Given the description of an element on the screen output the (x, y) to click on. 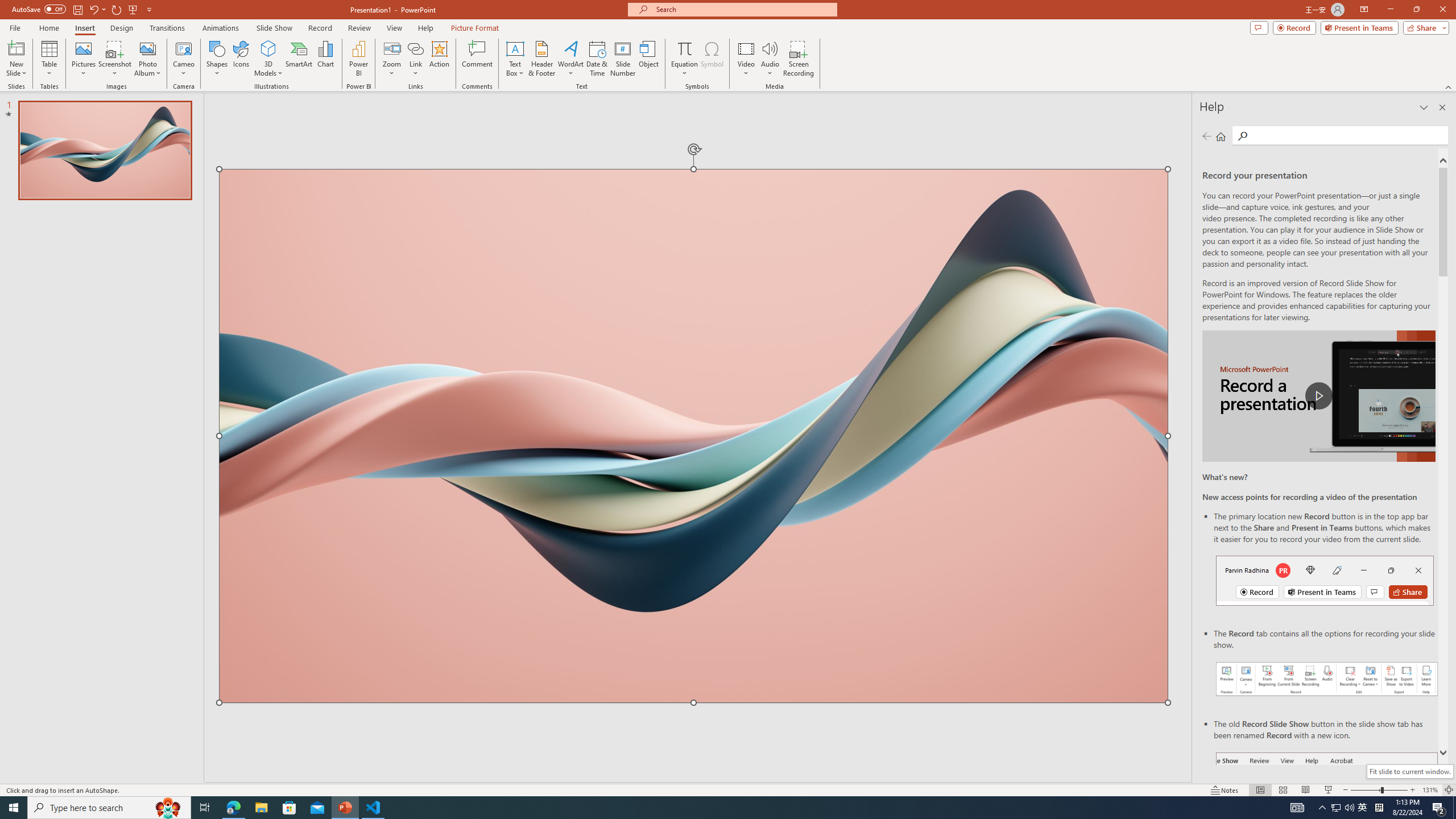
Slide Number (622, 58)
SmartArt... (298, 58)
Record your presentations screenshot one (1326, 678)
Screen Recording... (798, 58)
Screenshot (114, 58)
